Given the description of an element on the screen output the (x, y) to click on. 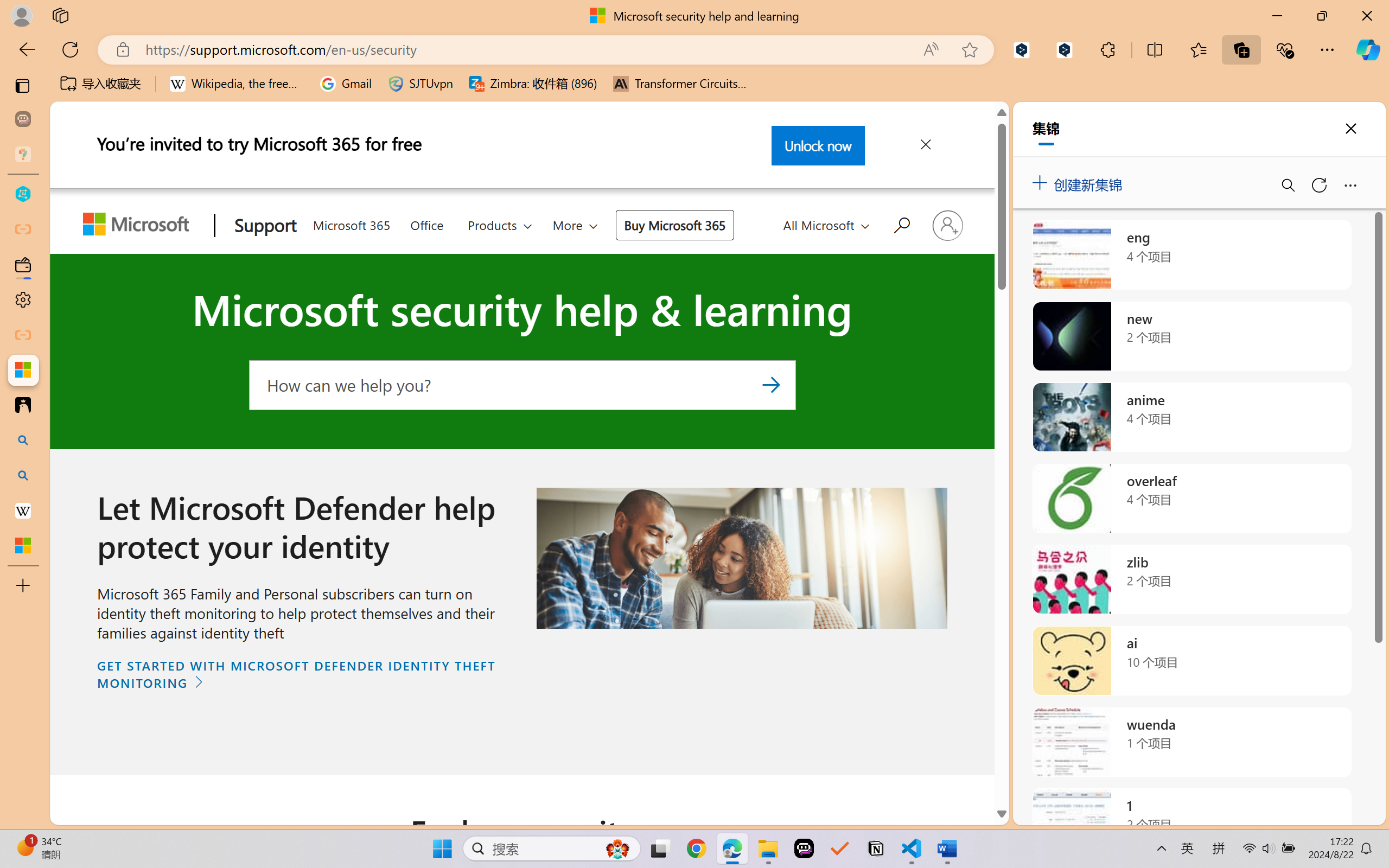
wangyian_dsw - DSW (22, 194)
